Given the description of an element on the screen output the (x, y) to click on. 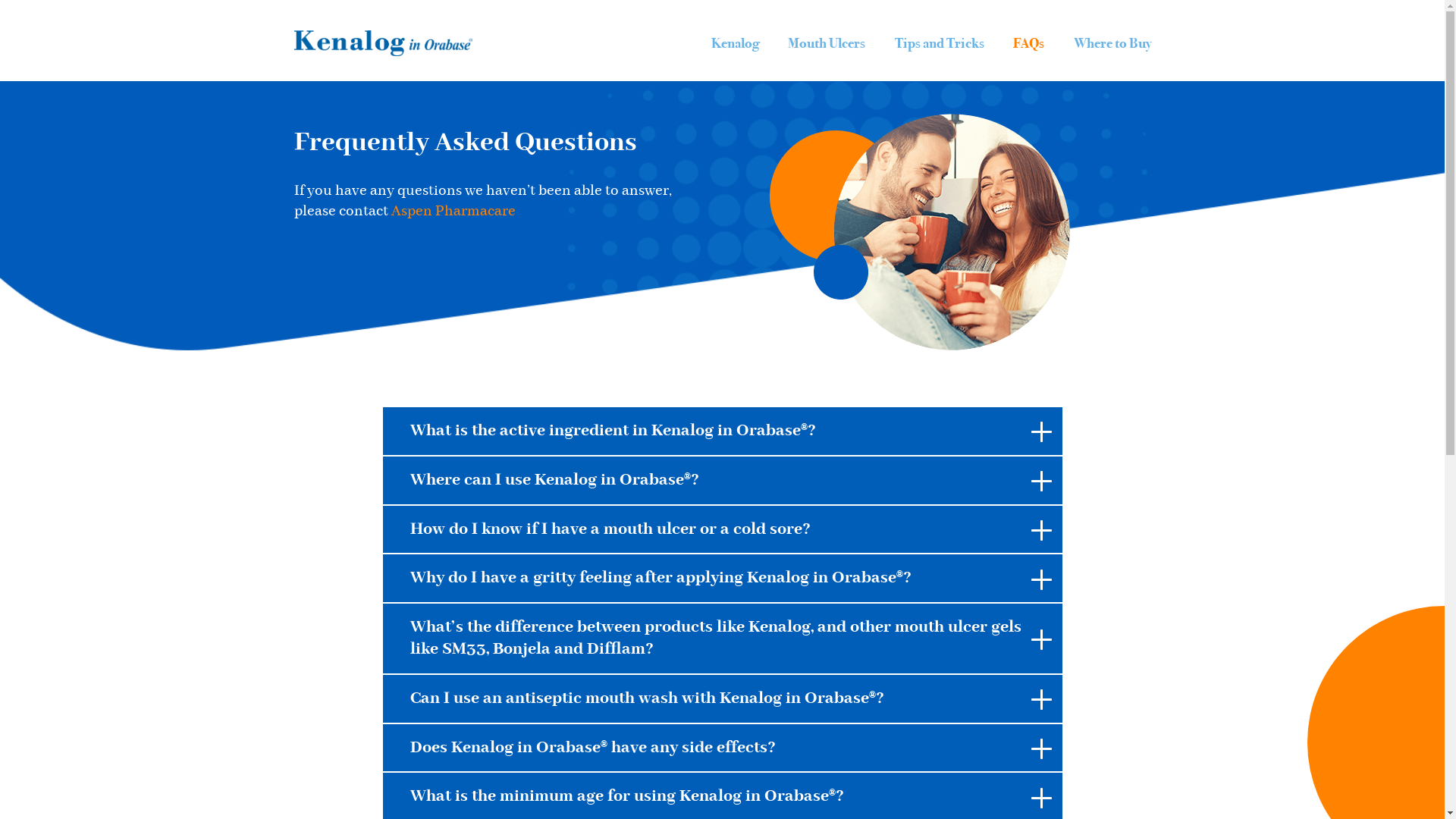
Mouth Ulcers Element type: text (826, 43)
Aspen Pharmacare Element type: text (453, 210)
FAQs Element type: text (1028, 43)
Where to Buy Element type: text (1112, 43)
Tips and Tricks Element type: text (939, 43)
Kenalog Element type: text (735, 43)
mouth ulcers Element type: hover (919, 231)
